Given the description of an element on the screen output the (x, y) to click on. 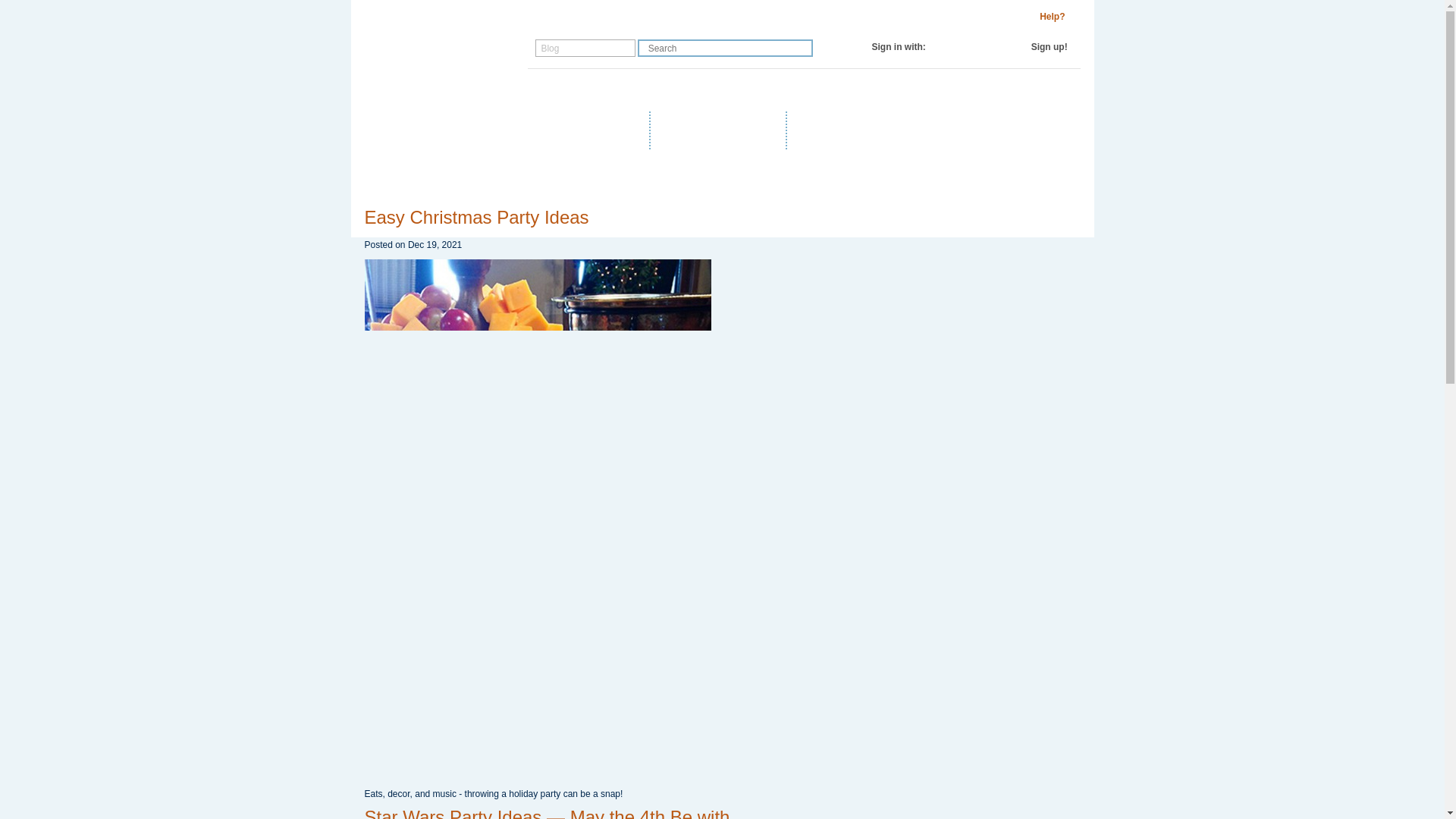
Find (801, 47)
Sign up! (1048, 46)
Help? (1052, 16)
Blog (595, 90)
My Account (727, 90)
CraftFoxes (941, 46)
Sign in with CraftFoxes account (941, 46)
Easy Christmas Party Ideas (476, 217)
Shop (550, 90)
Google (986, 46)
Twitter (972, 46)
Facebook (957, 46)
Newsletter Sign-Up (857, 129)
Projects (651, 90)
Find (801, 47)
